Given the description of an element on the screen output the (x, y) to click on. 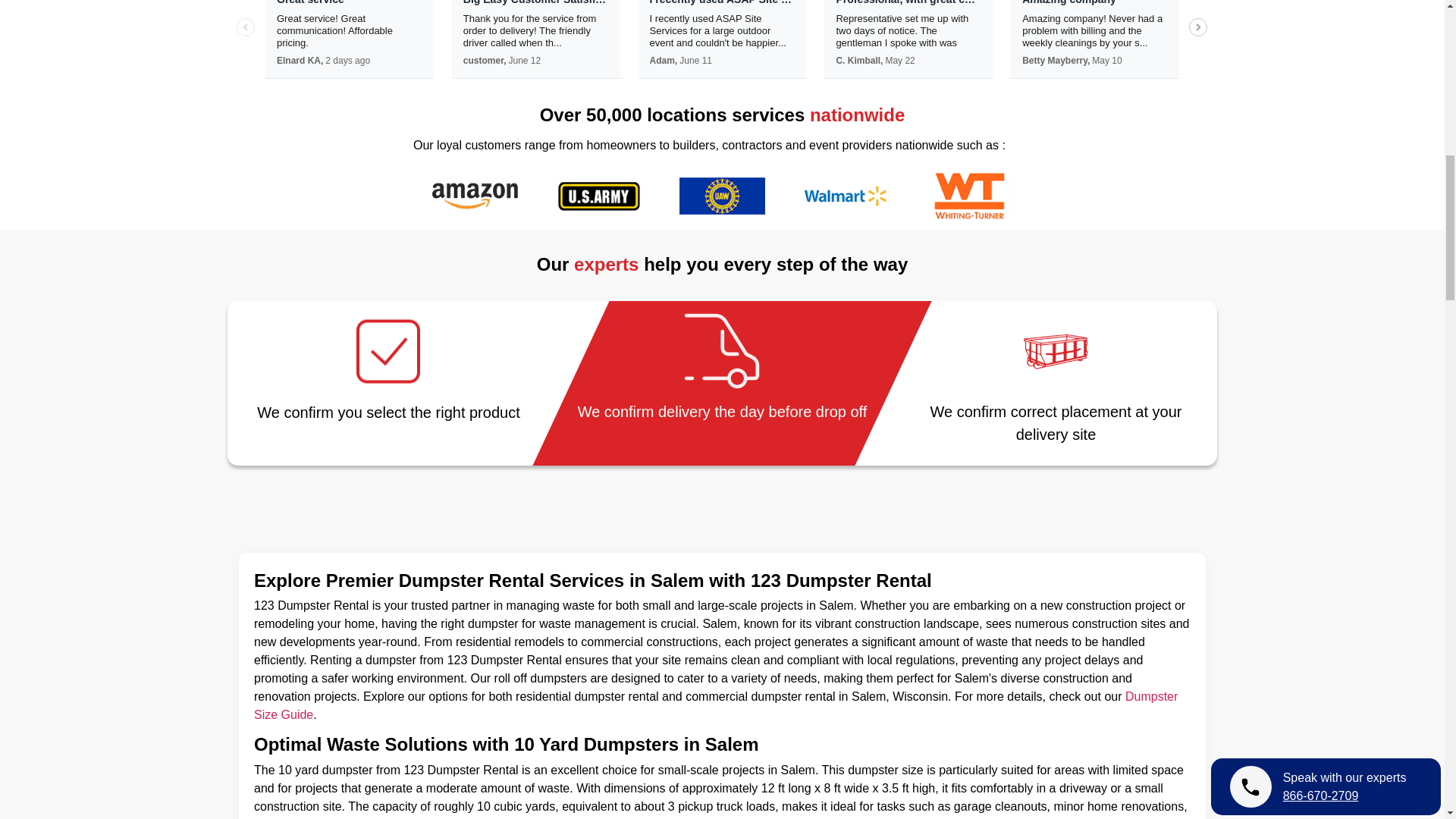
Dumpster Size Guide (715, 705)
Customer reviews powered by Trustpilot (722, 65)
